Given the description of an element on the screen output the (x, y) to click on. 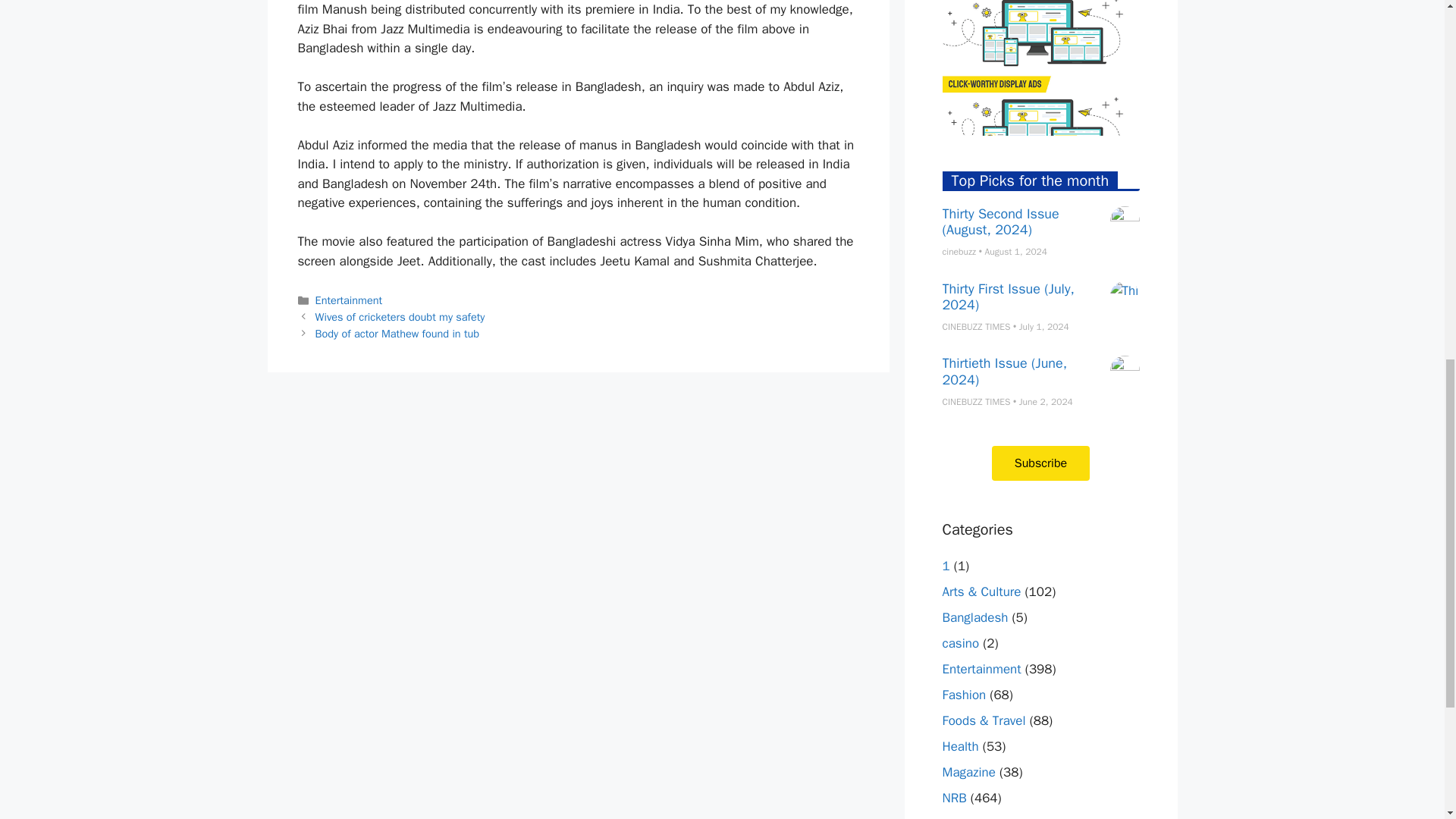
Entertainment (348, 300)
Scroll back to top (1406, 720)
Body of actor Mathew found in tub (397, 333)
Wives of cricketers doubt my safety (399, 316)
